Given the description of an element on the screen output the (x, y) to click on. 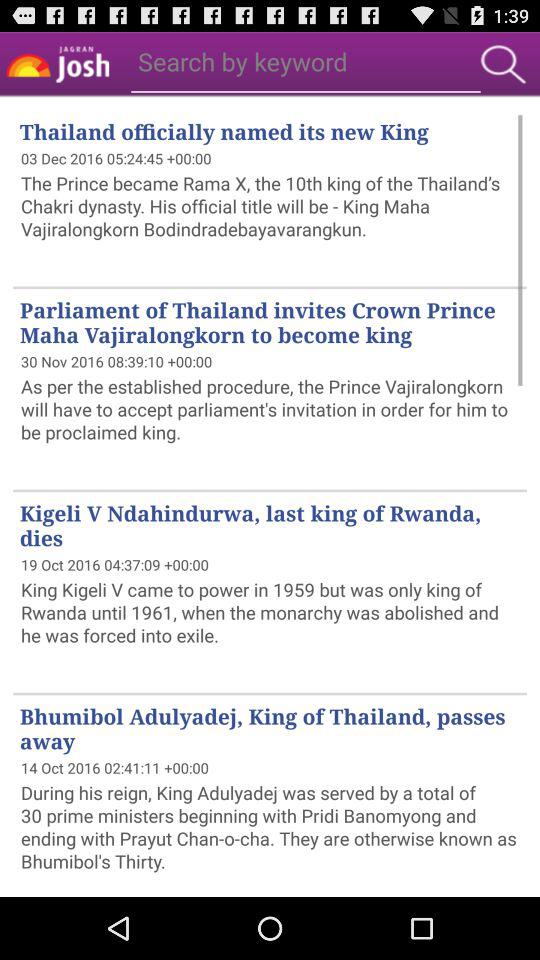
search by keyword (242, 60)
